Given the description of an element on the screen output the (x, y) to click on. 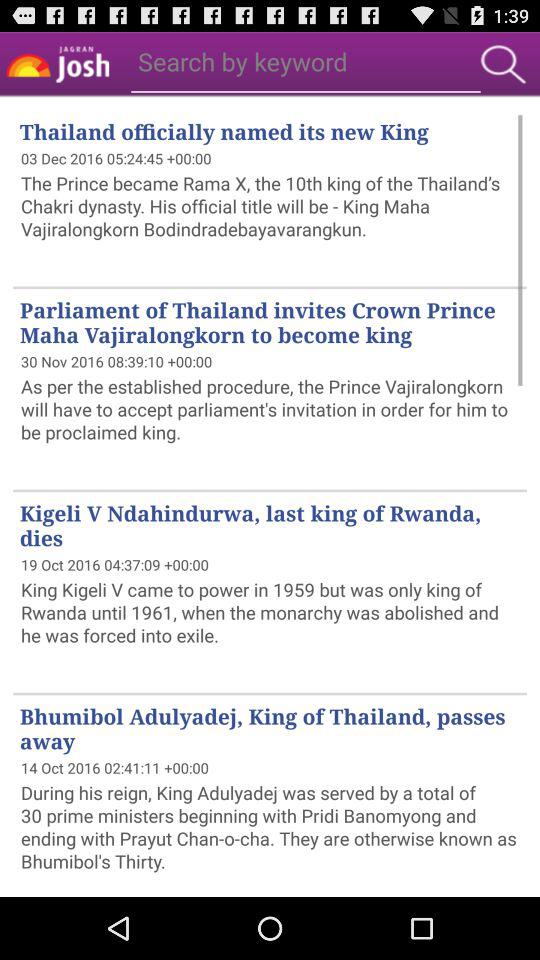
search by keyword (242, 60)
